Given the description of an element on the screen output the (x, y) to click on. 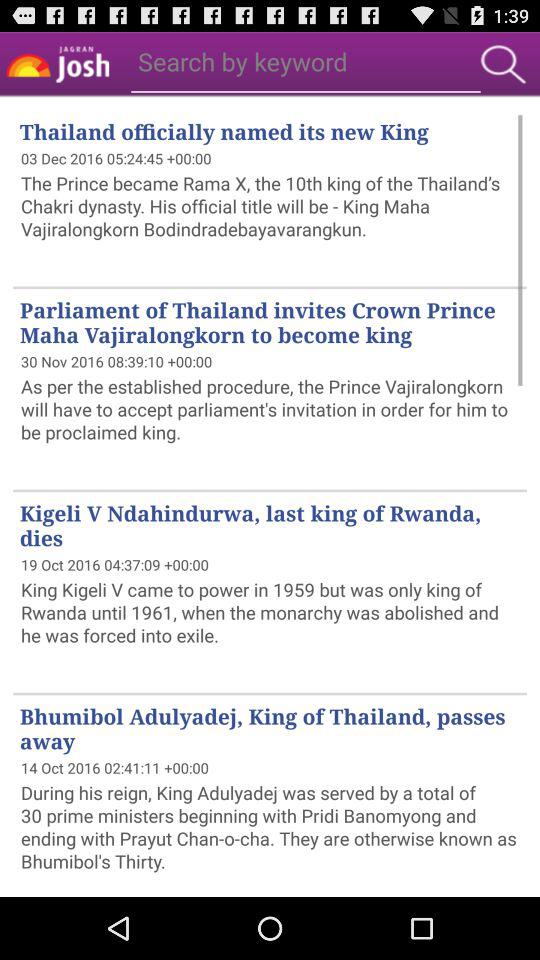
search by keyword (242, 60)
